Given the description of an element on the screen output the (x, y) to click on. 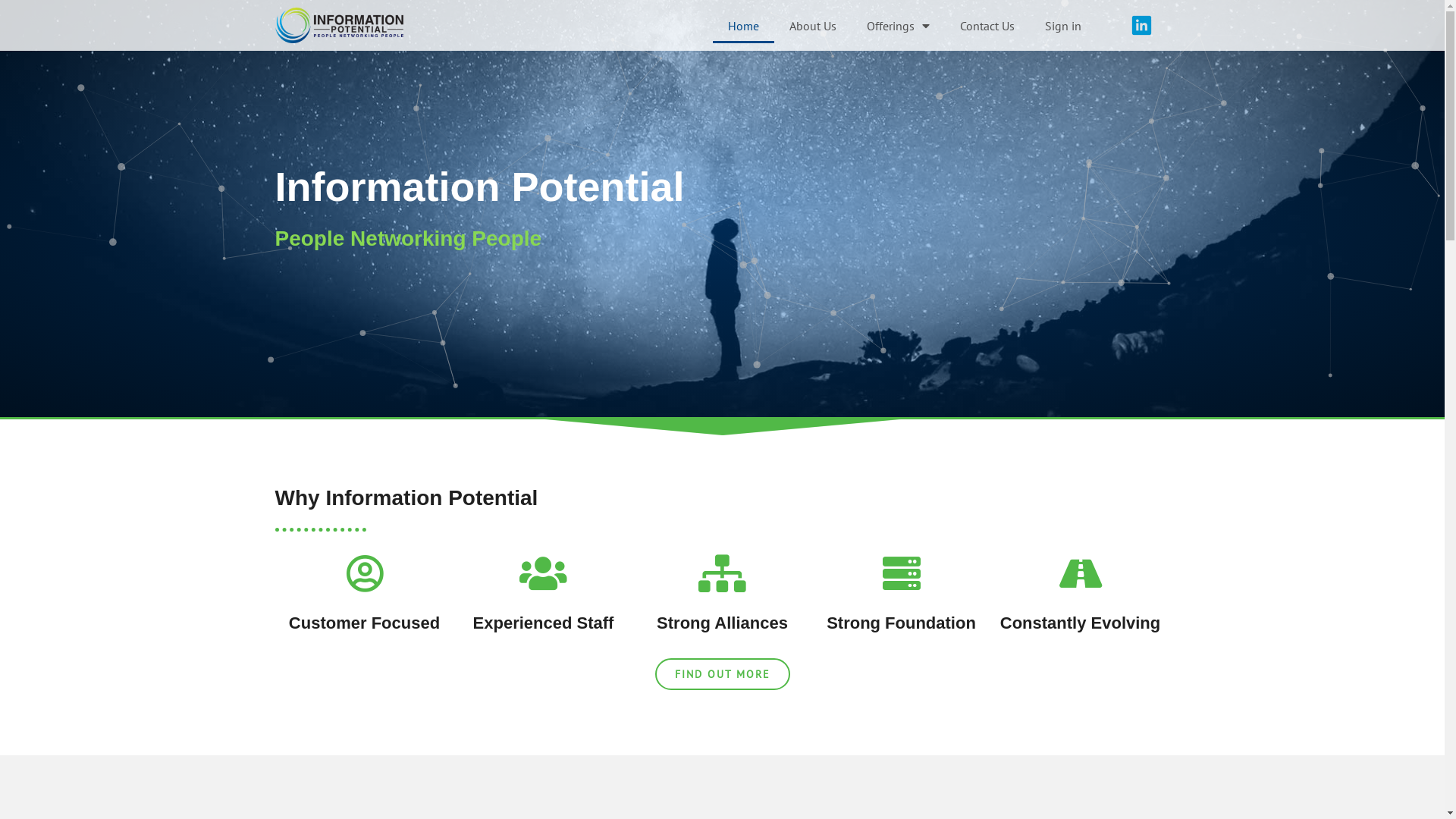
Sign in Element type: text (1062, 25)
Home Element type: text (743, 25)
Contact Us Element type: text (986, 25)
About Us Element type: text (812, 25)
Offerings Element type: text (897, 25)
FIND OUT MORE Element type: text (722, 674)
